Given the description of an element on the screen output the (x, y) to click on. 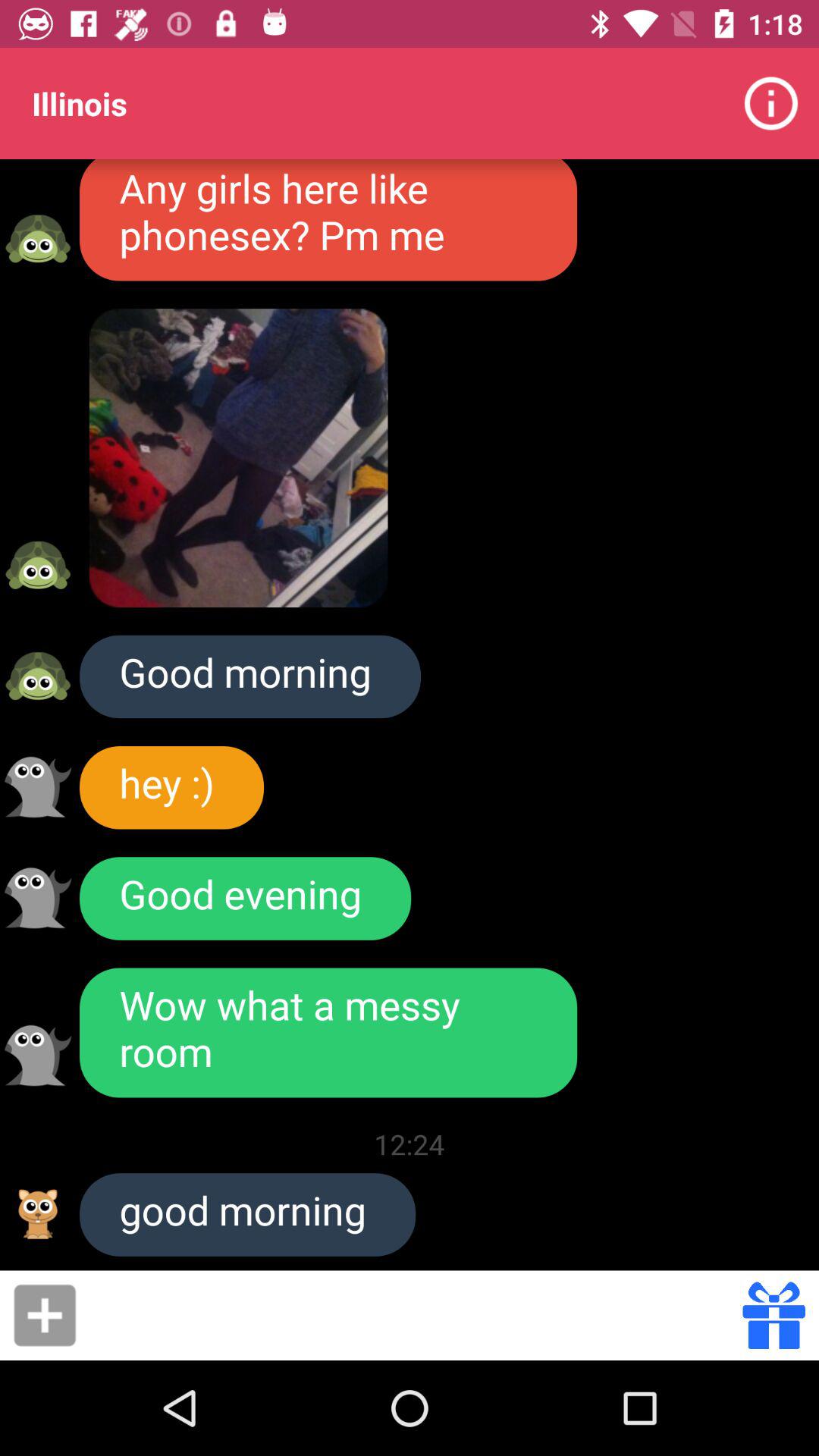
swipe until the wow what a item (328, 1032)
